Given the description of an element on the screen output the (x, y) to click on. 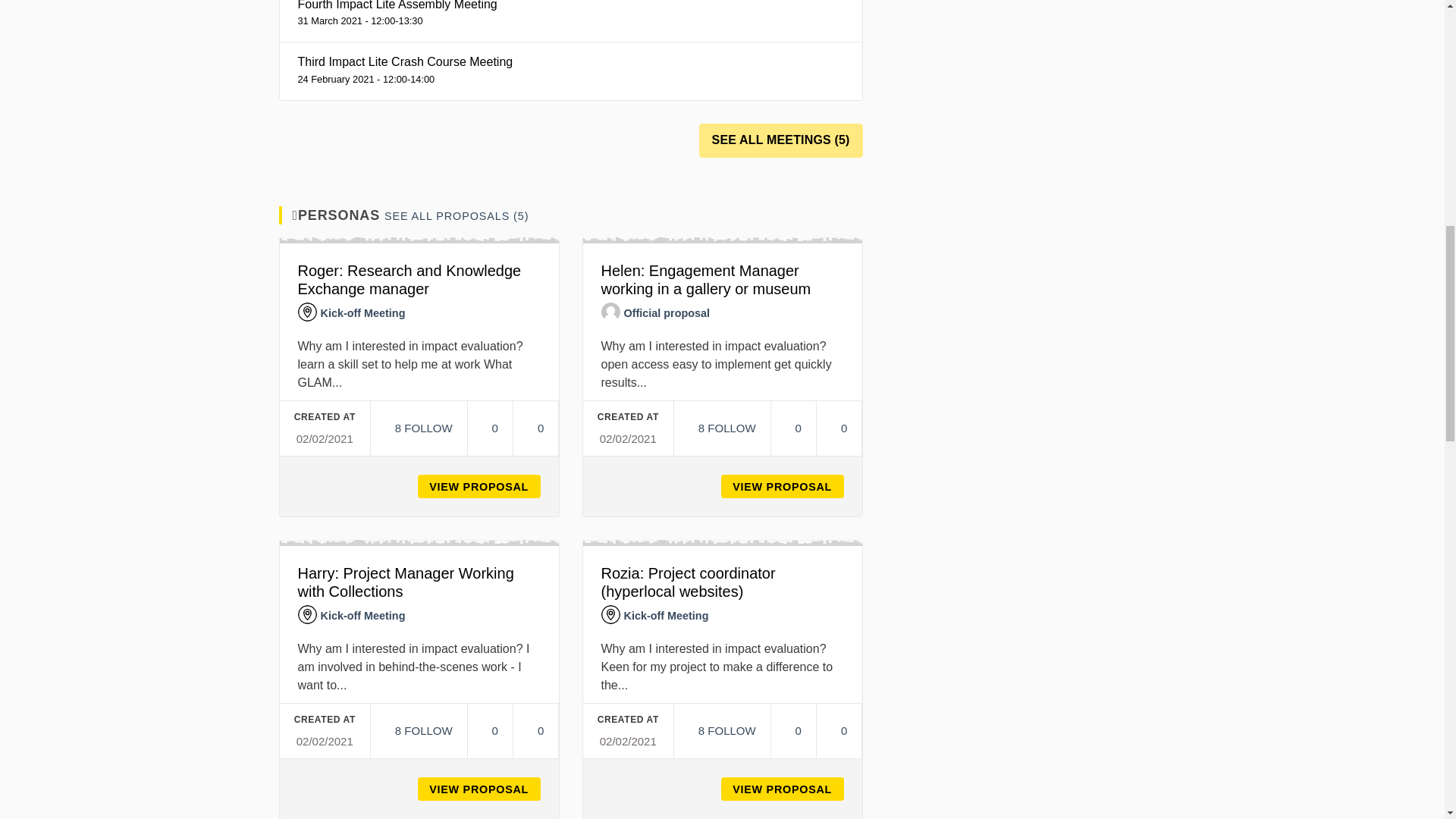
Comments count (535, 428)
Endorsements count (793, 428)
Comments count (838, 428)
Comments (535, 427)
Endorsements (489, 427)
Endorsements (793, 427)
Endorsements count (489, 428)
Please sign in before performing this action (721, 428)
Comments (838, 427)
Please sign in before performing this action (417, 428)
